Given the description of an element on the screen output the (x, y) to click on. 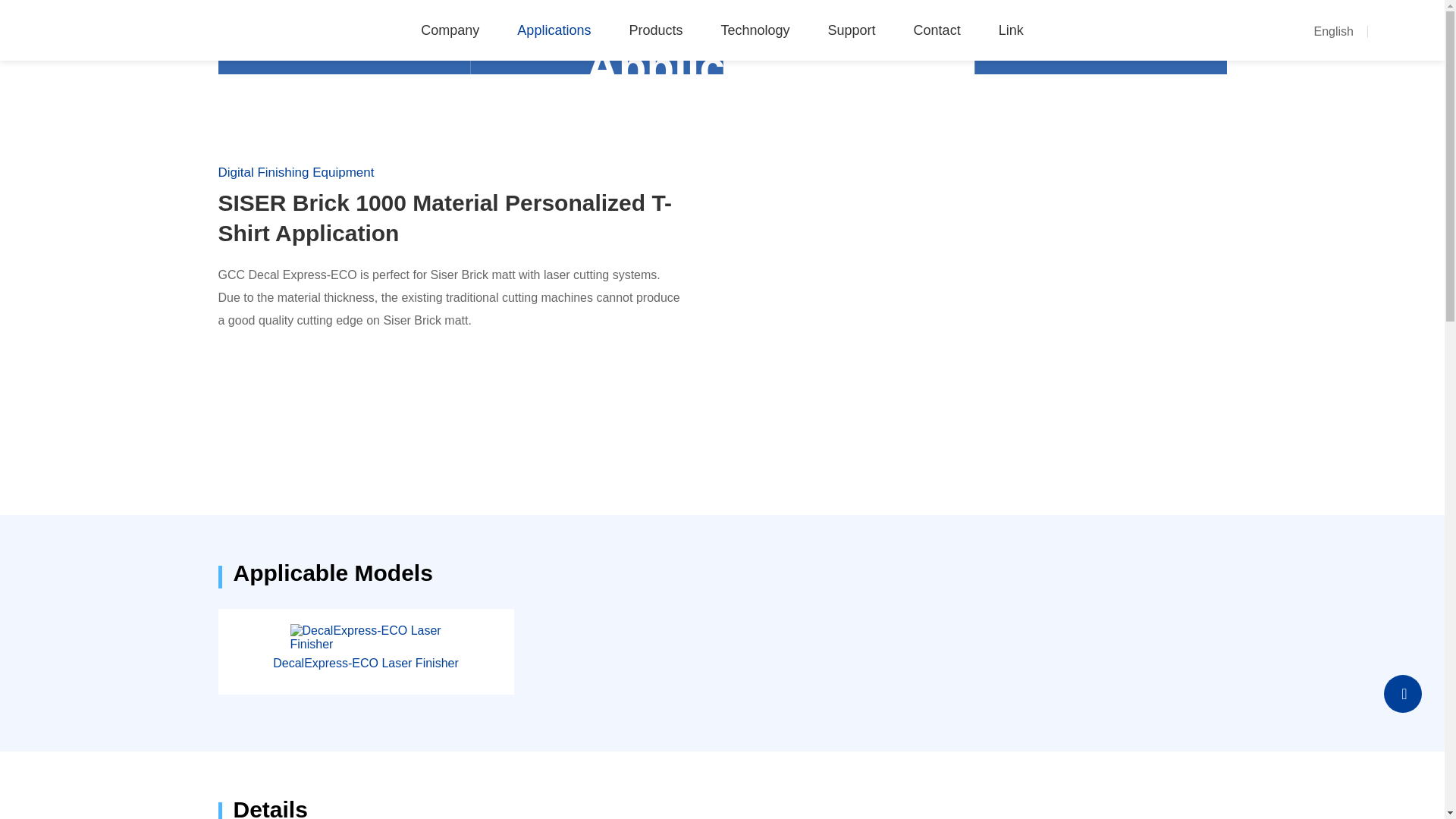
Applications (553, 30)
Company (449, 30)
Applications (553, 30)
Company (449, 30)
Products (655, 30)
